Given the description of an element on the screen output the (x, y) to click on. 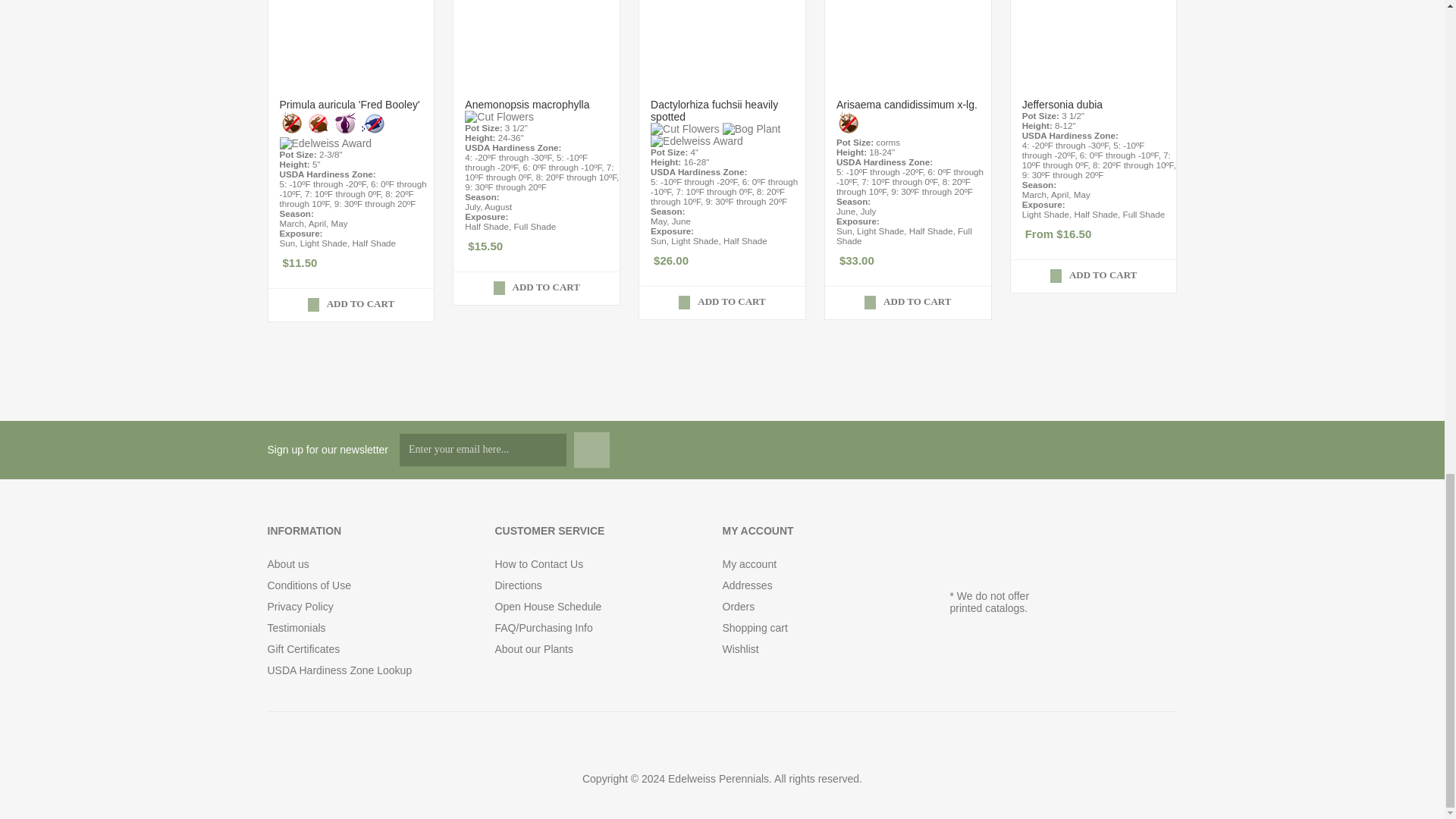
USDA Hardiness Zone (325, 173)
Primula auricula 'Fred Booley' (350, 104)
Add to wishlist (286, 299)
Show details for Primula auricula 'Fred Booley' (350, 43)
